Given the description of an element on the screen output the (x, y) to click on. 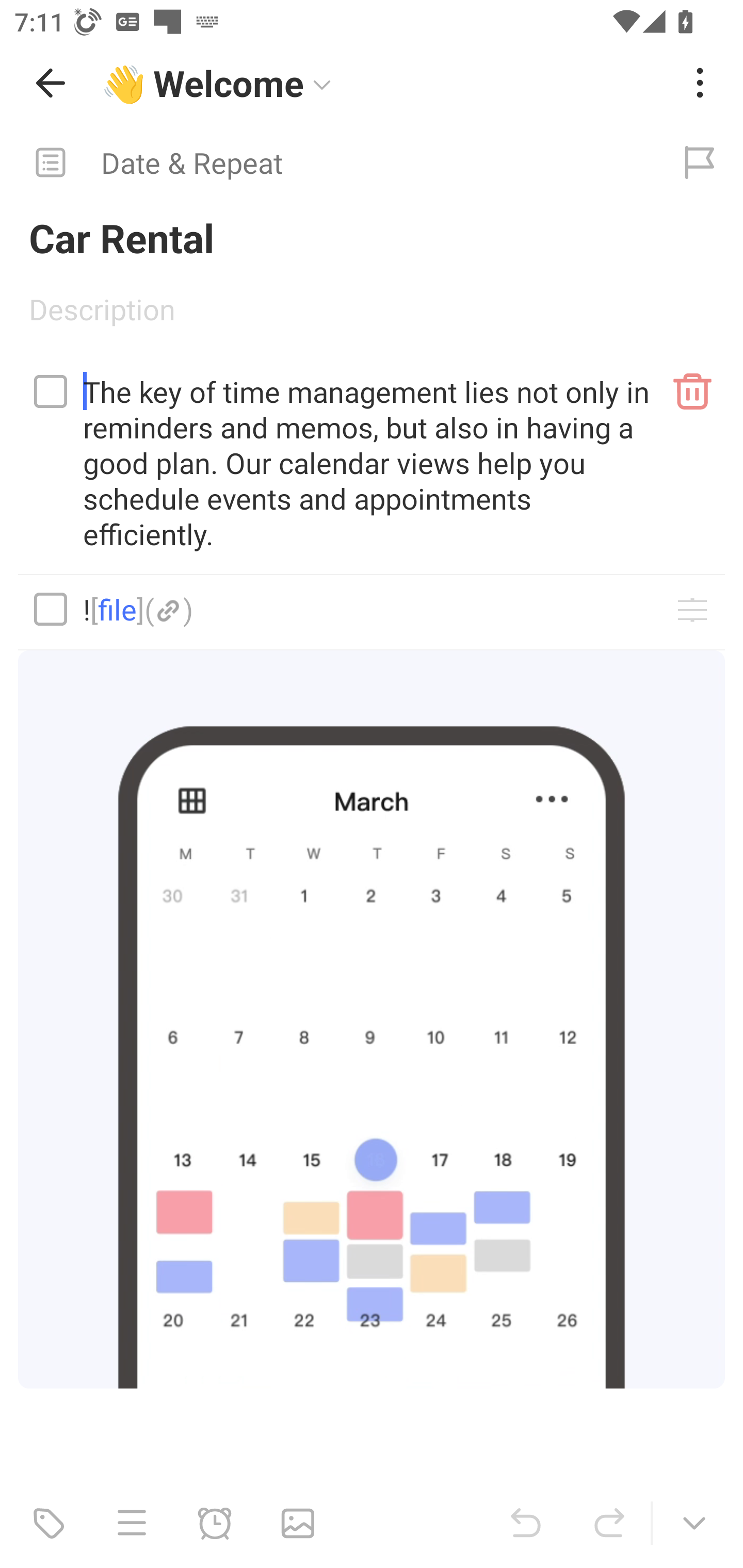
👋 Welcome (384, 82)
Date & Repeat (328, 163)
Car Rental (371, 237)
Description (371, 315)
  (50, 390)
  (50, 608)
